Given the description of an element on the screen output the (x, y) to click on. 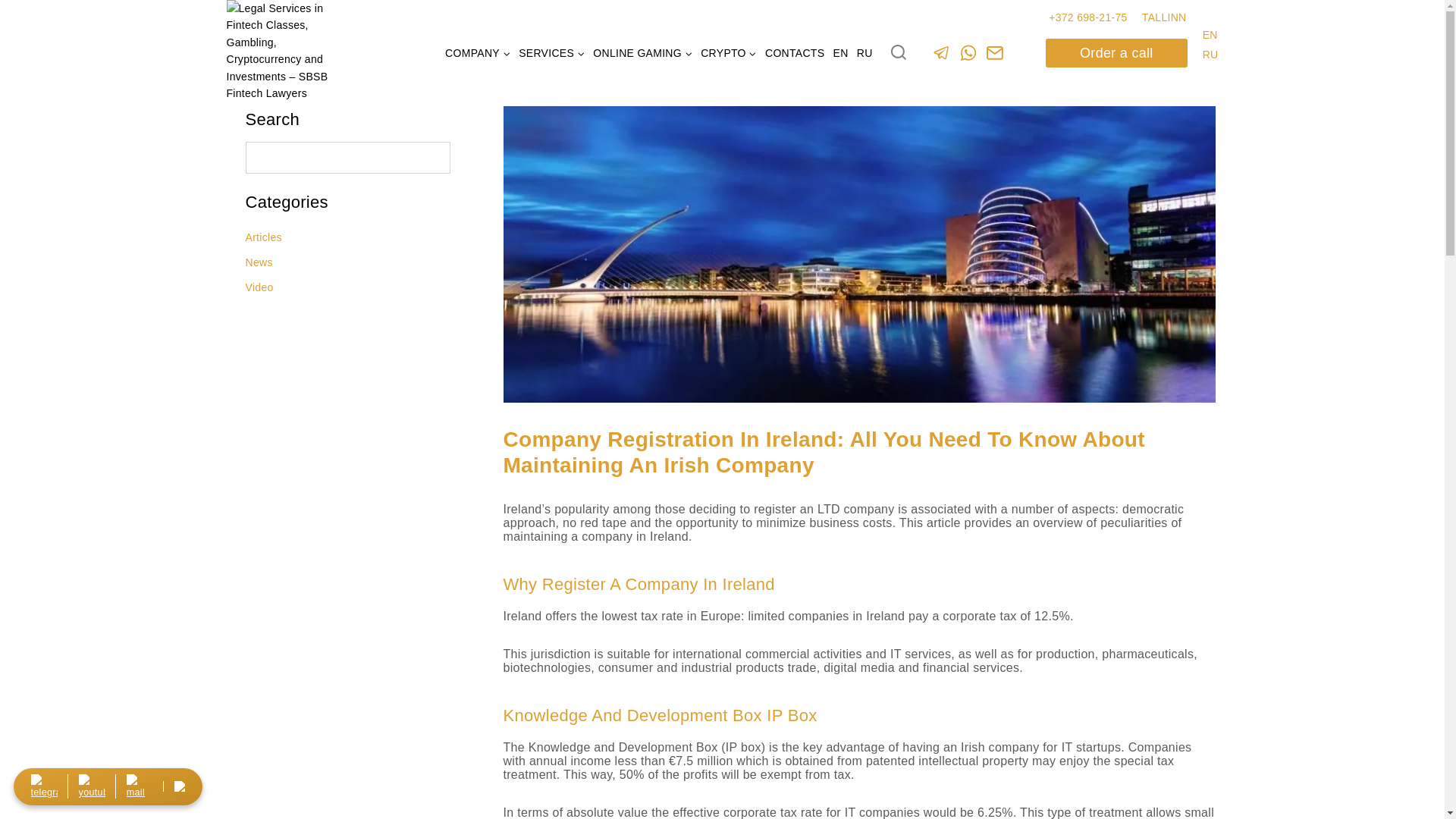
SERVICES (552, 53)
COMPANY (478, 53)
